Given the description of an element on the screen output the (x, y) to click on. 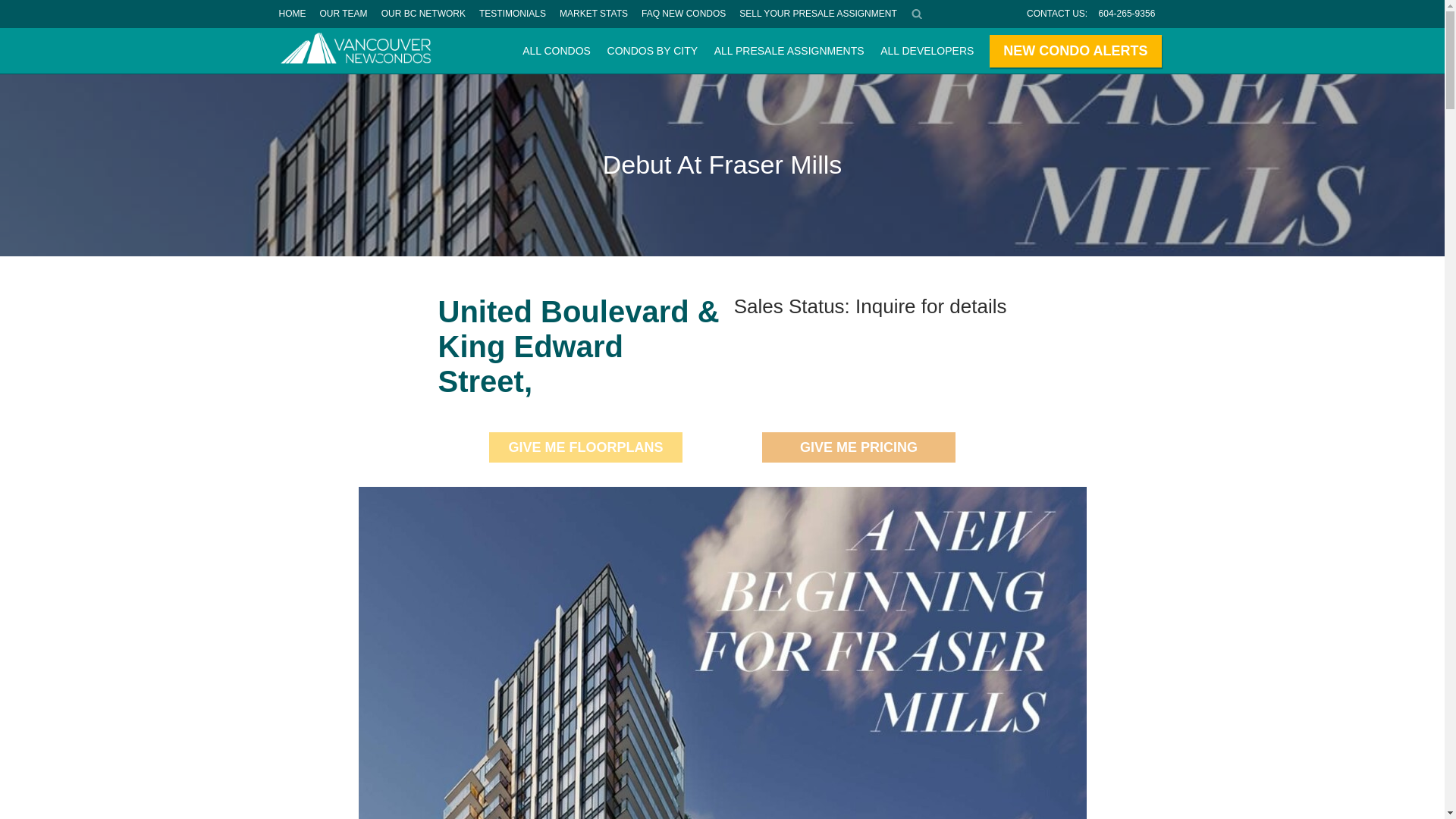
GIVE ME PRICING (858, 447)
NEW CONDO ALERTS (1075, 51)
GIVE ME FLOORPLANS (585, 447)
TESTIMONIALS (512, 13)
CONDOS BY CITY (652, 50)
HOME (291, 13)
FAQ NEW CONDOS (683, 13)
ALL DEVELOPERS (926, 50)
OUR BC NETWORK (422, 13)
604-265-9356 (1126, 13)
